Given the description of an element on the screen output the (x, y) to click on. 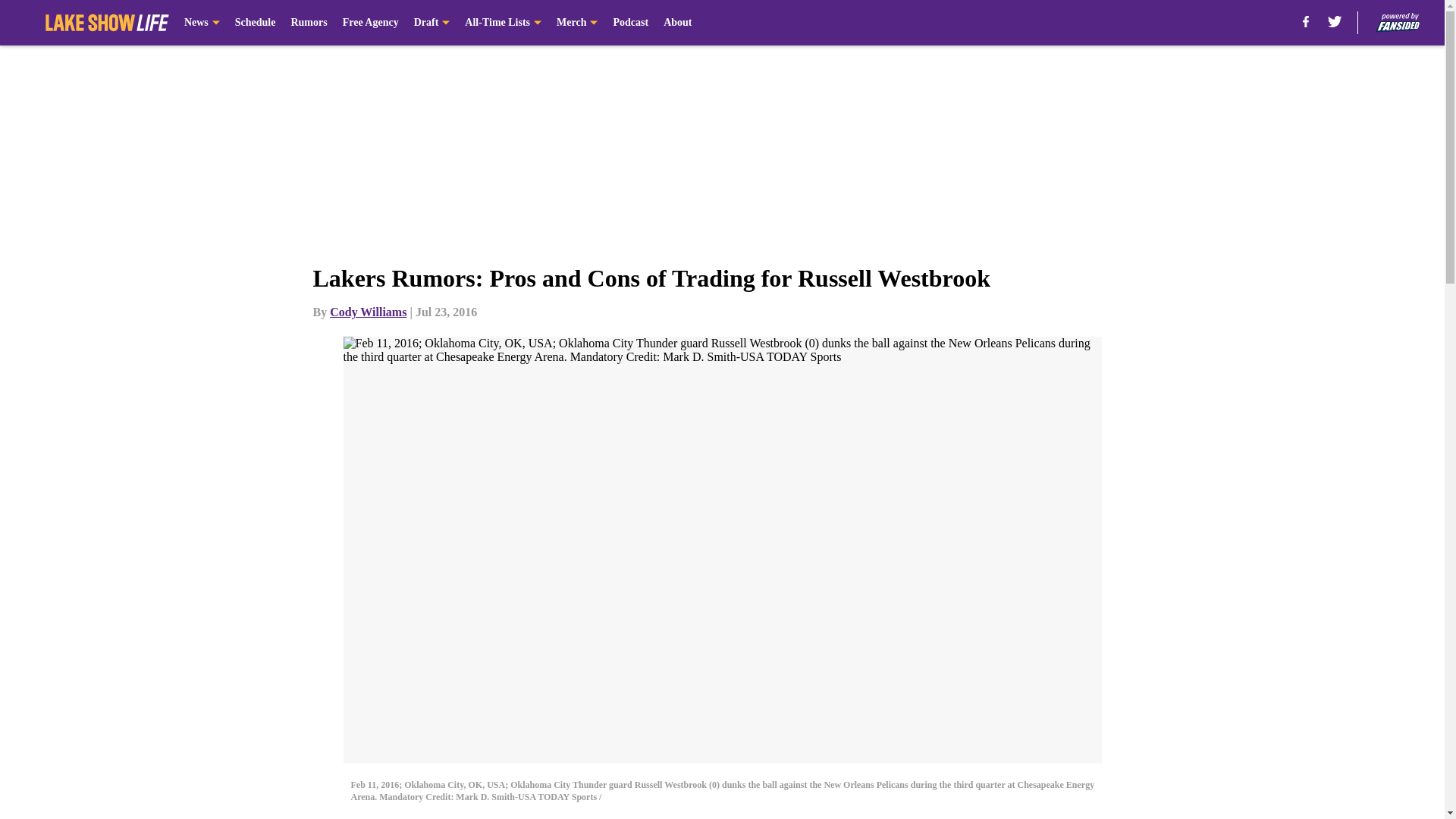
Rumors (307, 22)
Cody Williams (368, 311)
Free Agency (370, 22)
Schedule (255, 22)
Podcast (629, 22)
All-Time Lists (502, 22)
About (677, 22)
News (201, 22)
Draft (431, 22)
